Given the description of an element on the screen output the (x, y) to click on. 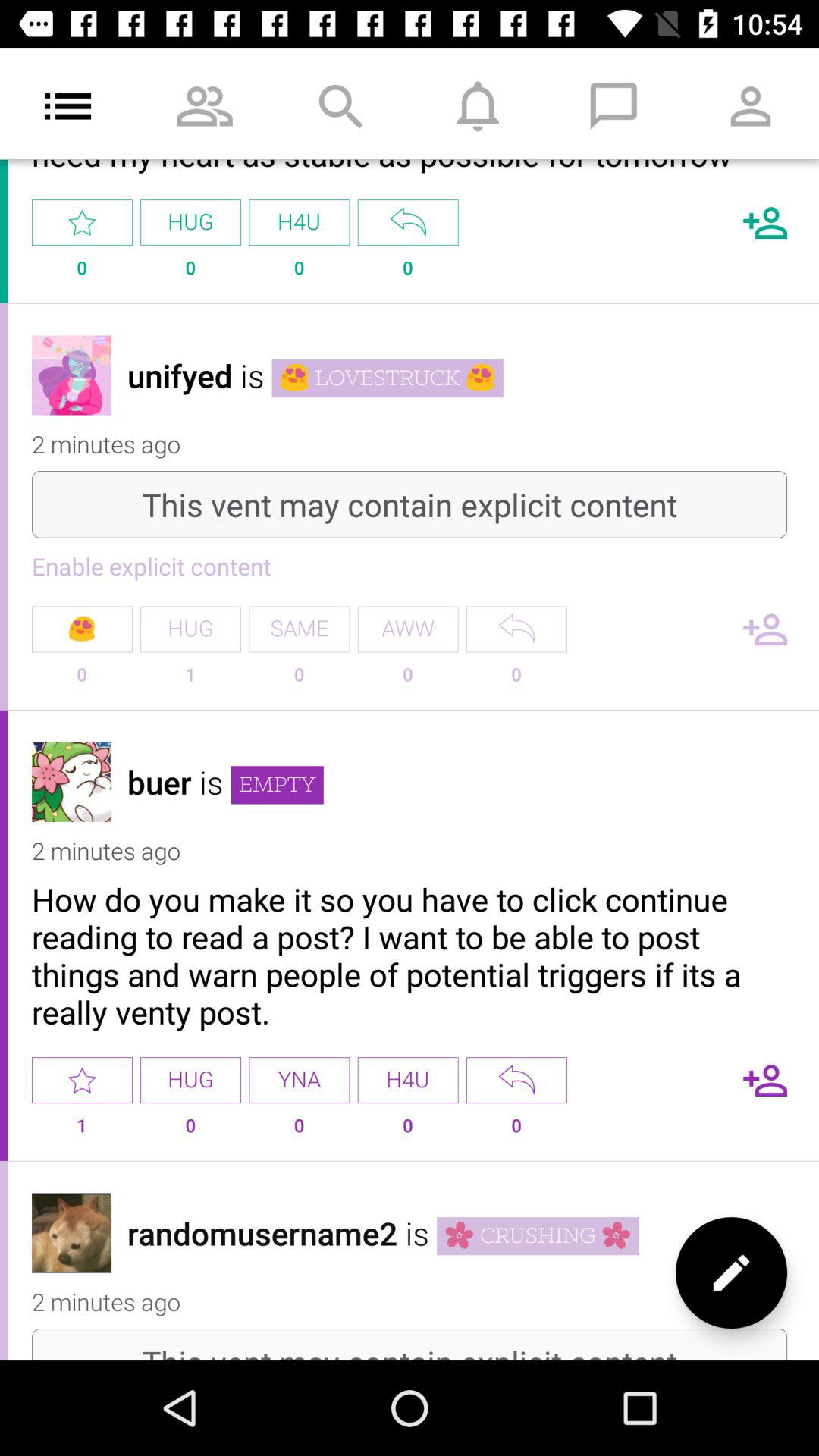
click the icon next to the aww icon (299, 629)
